Given the description of an element on the screen output the (x, y) to click on. 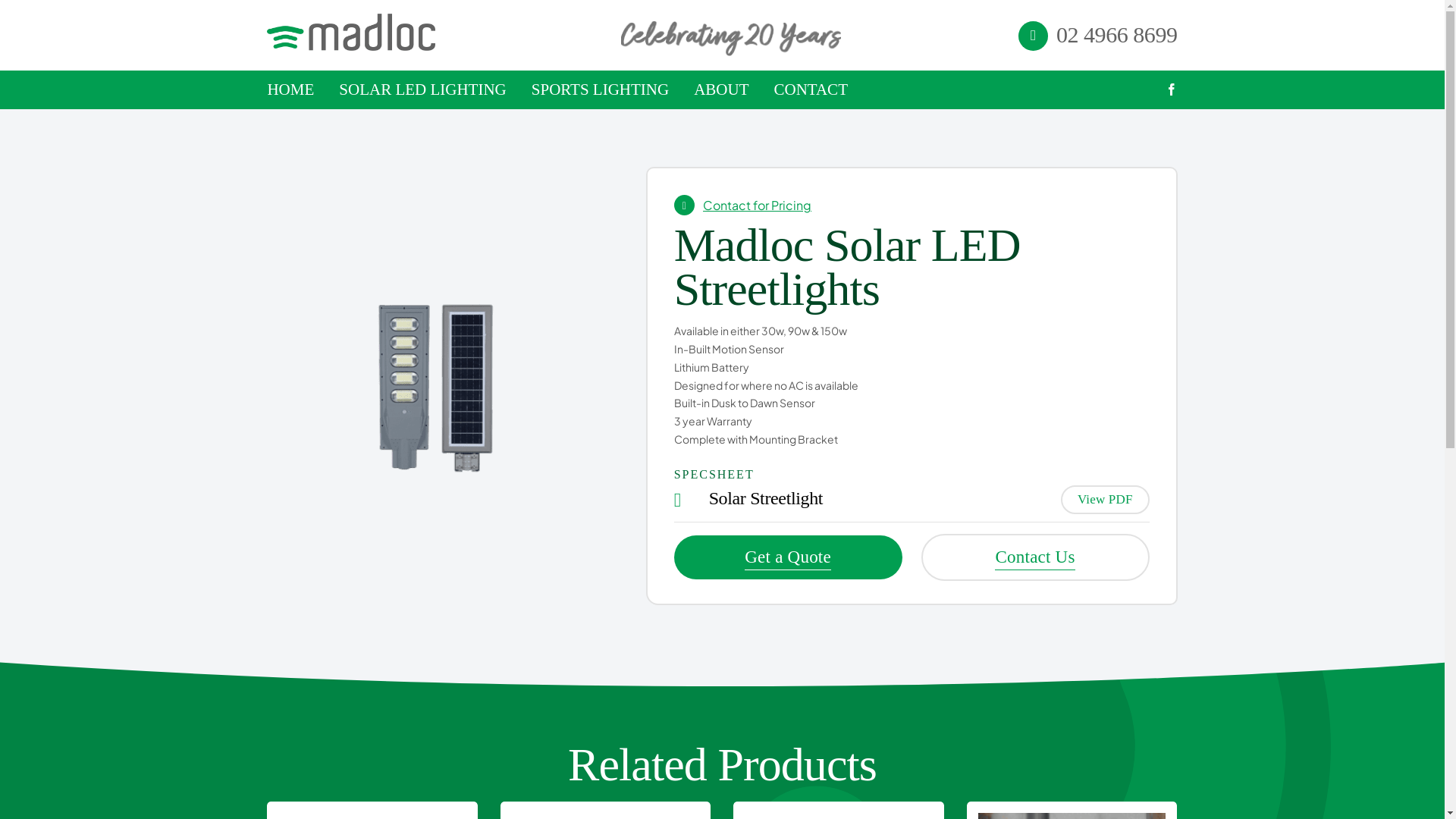
HOME Element type: text (289, 89)
Picture1 Element type: hover (437, 385)
ABOUT Element type: text (720, 89)
Get a Quote Element type: text (788, 557)
SOLAR LED LIGHTING Element type: text (421, 89)
View PDF Element type: text (1104, 499)
Contact for Pricing Element type: text (756, 205)
02 4966 8699 Element type: text (1116, 34)
CONTACT Element type: text (810, 89)
SPORTS LIGHTING Element type: text (599, 89)
Contact Us Element type: text (1035, 556)
